Given the description of an element on the screen output the (x, y) to click on. 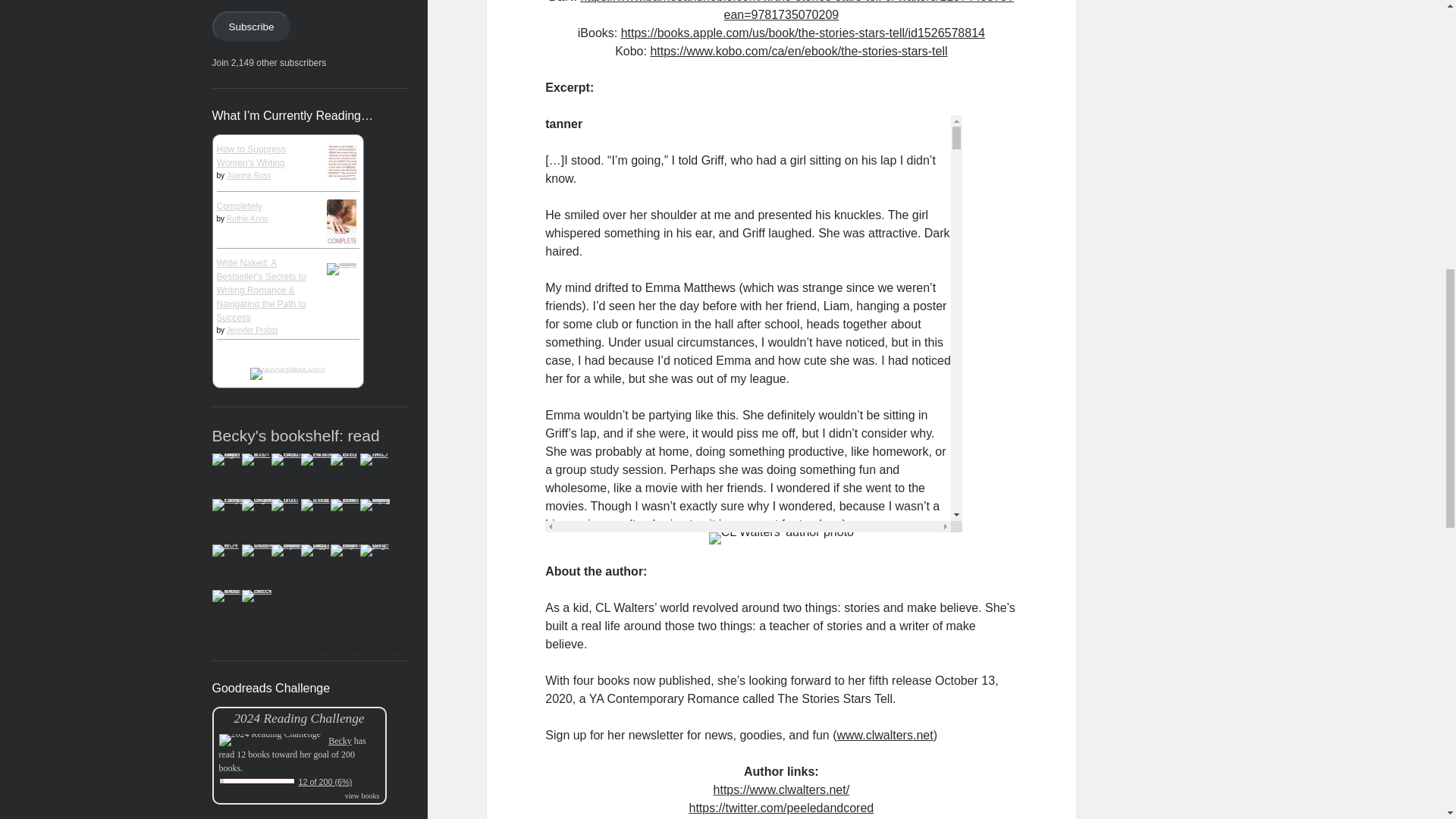
Becky's bookshelf: read (296, 435)
Mr. H.O.A. (373, 452)
Ruthie Knox (247, 218)
Sisters and Secrets (286, 452)
How to Suppress Women's Writing (344, 195)
Dear Sexy Ex-Boyfriend (231, 498)
Joanna Russ (248, 175)
Jennifer Probst (252, 329)
How to Suppress Women's Writing (250, 156)
Completely (239, 205)
Subscribe (251, 26)
